Given the description of an element on the screen output the (x, y) to click on. 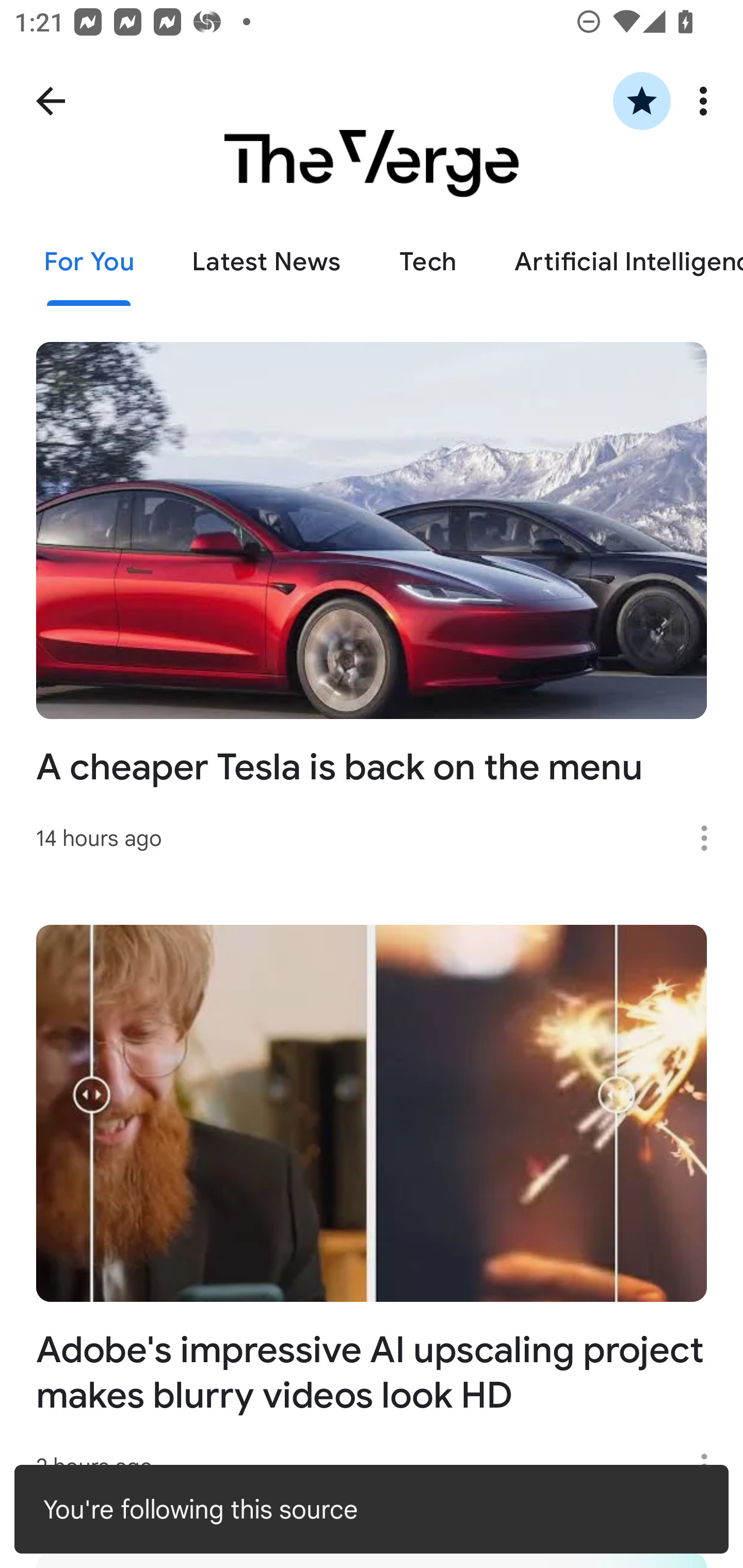
Navigate up (50, 101)
More options (706, 101)
Latest News (266, 262)
Tech (427, 262)
Artificial Intelligence (614, 262)
More options (711, 837)
